Given the description of an element on the screen output the (x, y) to click on. 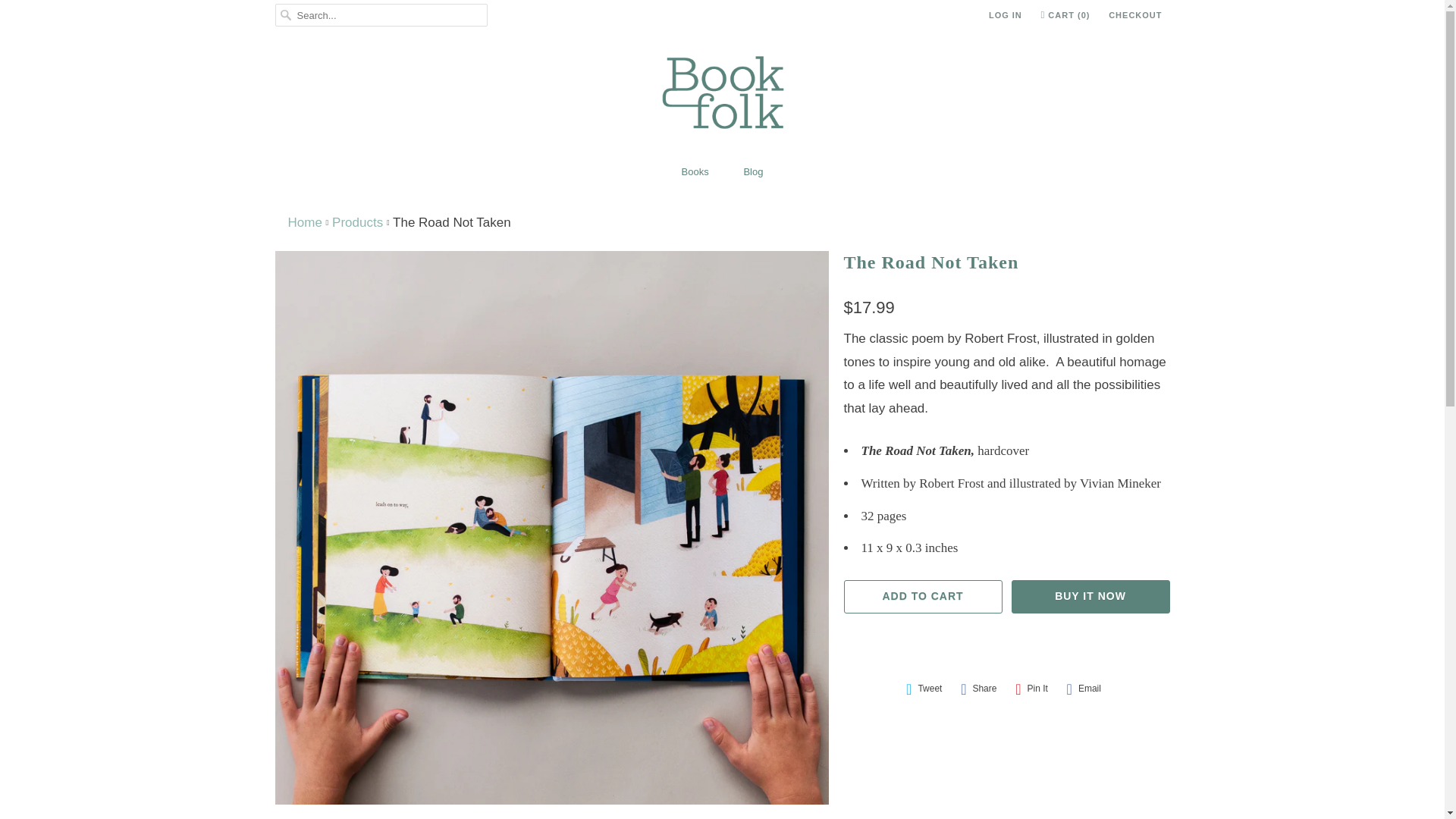
BUY IT NOW (1090, 596)
Share this on Facebook (978, 688)
ADD TO CART (922, 596)
Email (1083, 688)
Books (695, 172)
Blog (752, 172)
Bookfolk (722, 95)
Products (356, 222)
Bookfolk (304, 222)
Share (978, 688)
Share this on Pinterest (1031, 688)
Pin It (1031, 688)
Products (356, 222)
Tweet (923, 688)
